Given the description of an element on the screen output the (x, y) to click on. 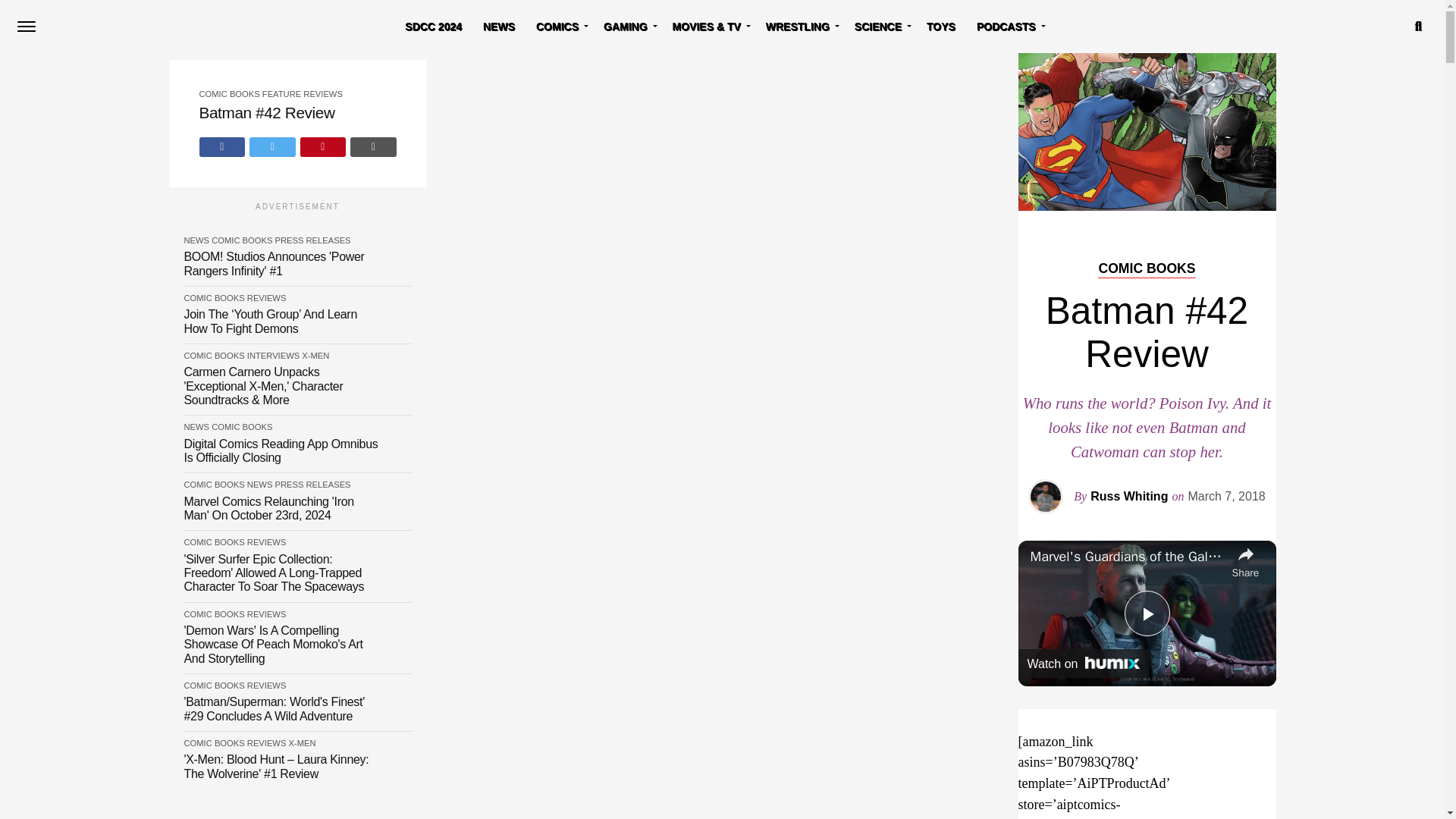
Tweet This Post (272, 145)
Share on Facebook (221, 145)
Pin This Post (322, 145)
